Given the description of an element on the screen output the (x, y) to click on. 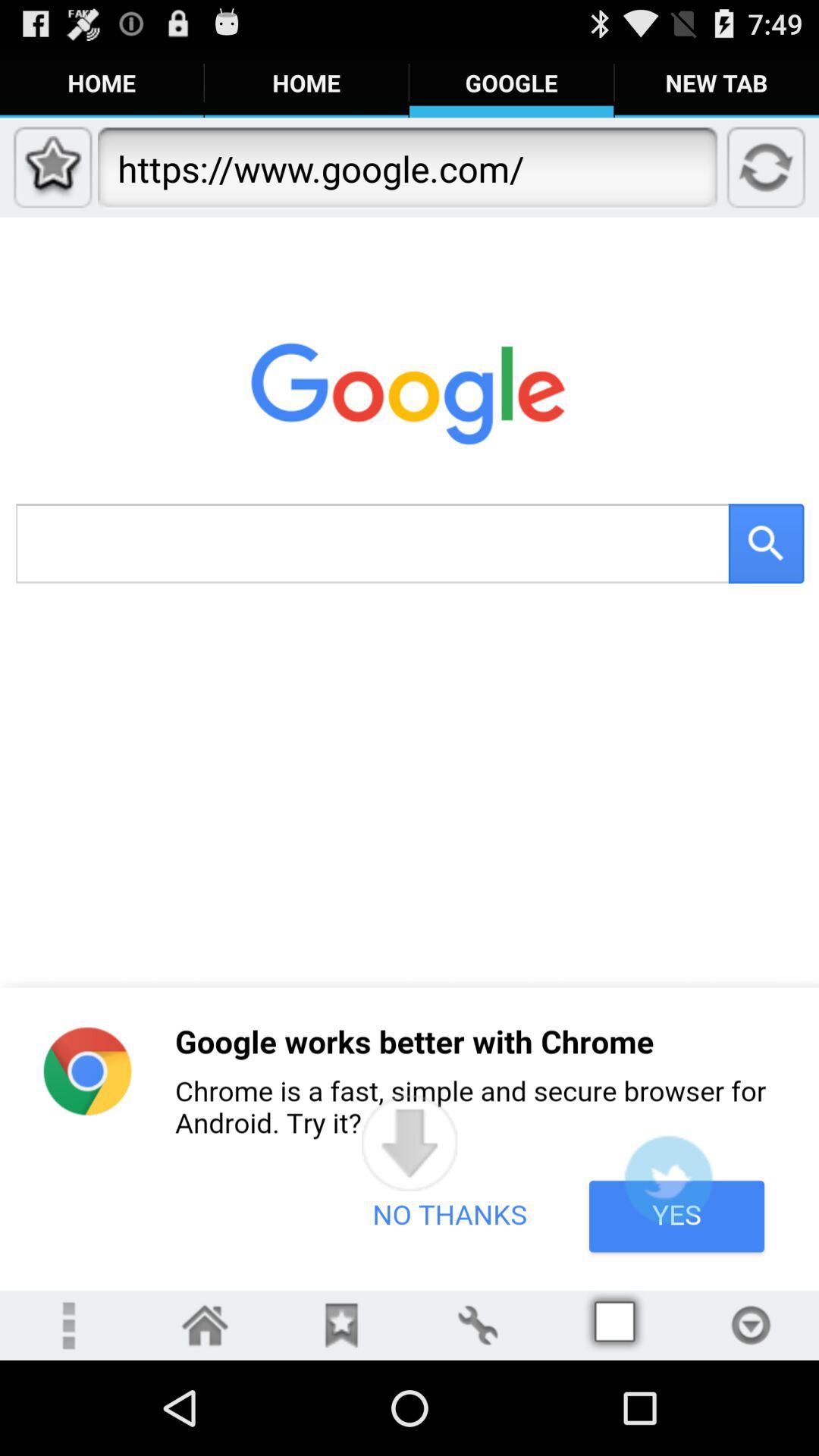
view settings (477, 1325)
